Given the description of an element on the screen output the (x, y) to click on. 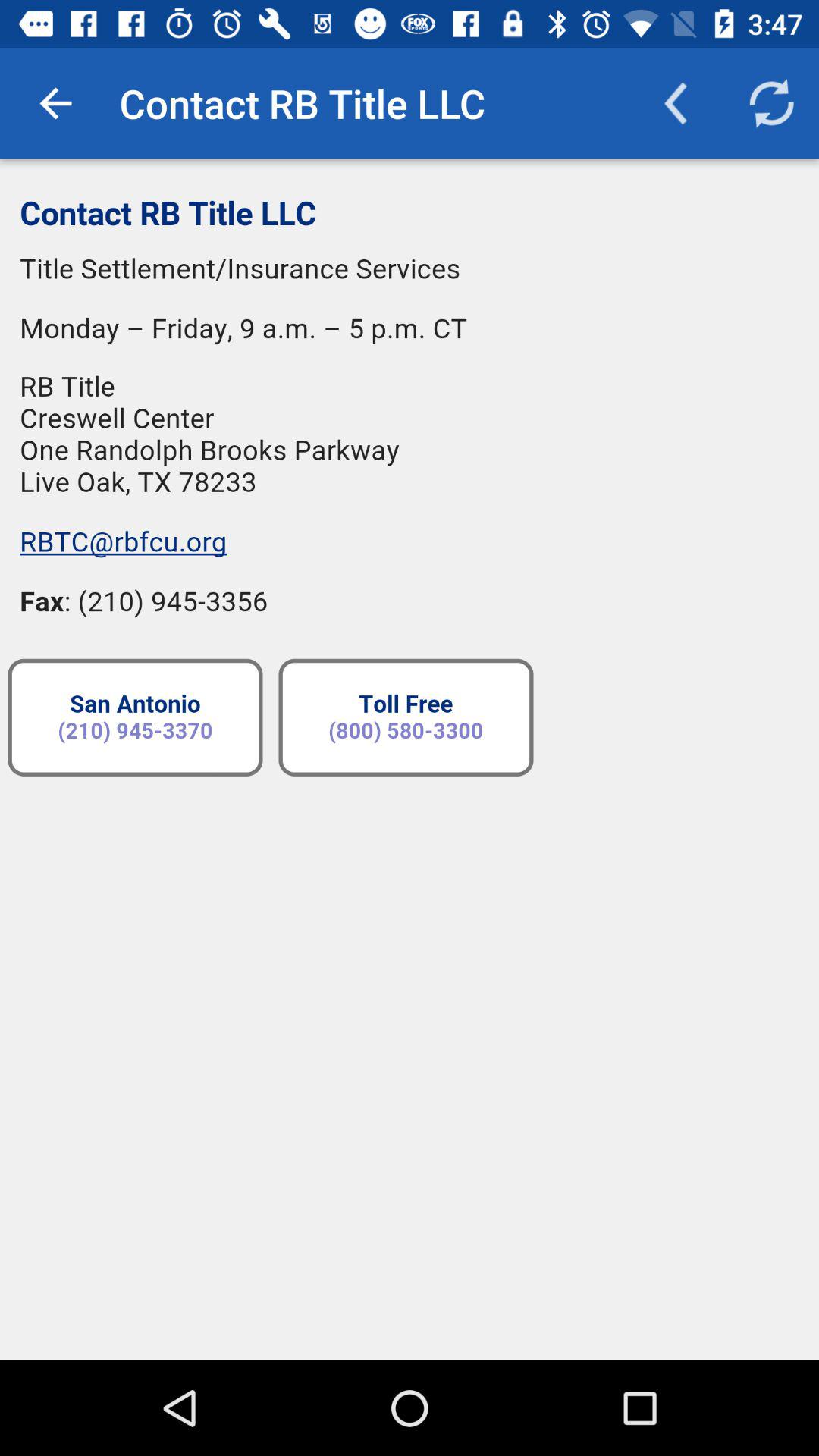
page to contact (409, 759)
